Given the description of an element on the screen output the (x, y) to click on. 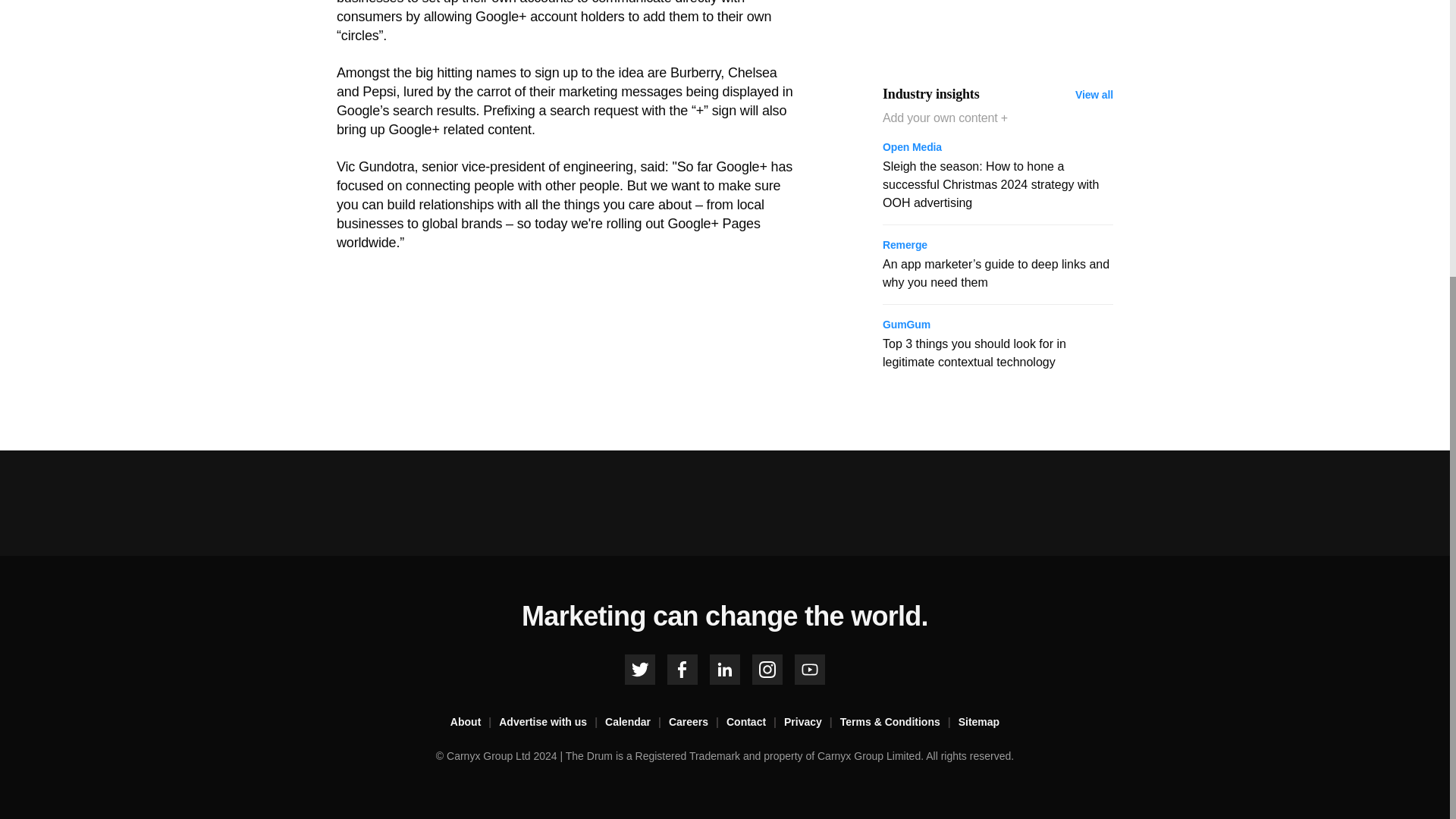
Open Media (912, 148)
Remerge (904, 246)
GumGum (906, 325)
View all (1094, 93)
